Given the description of an element on the screen output the (x, y) to click on. 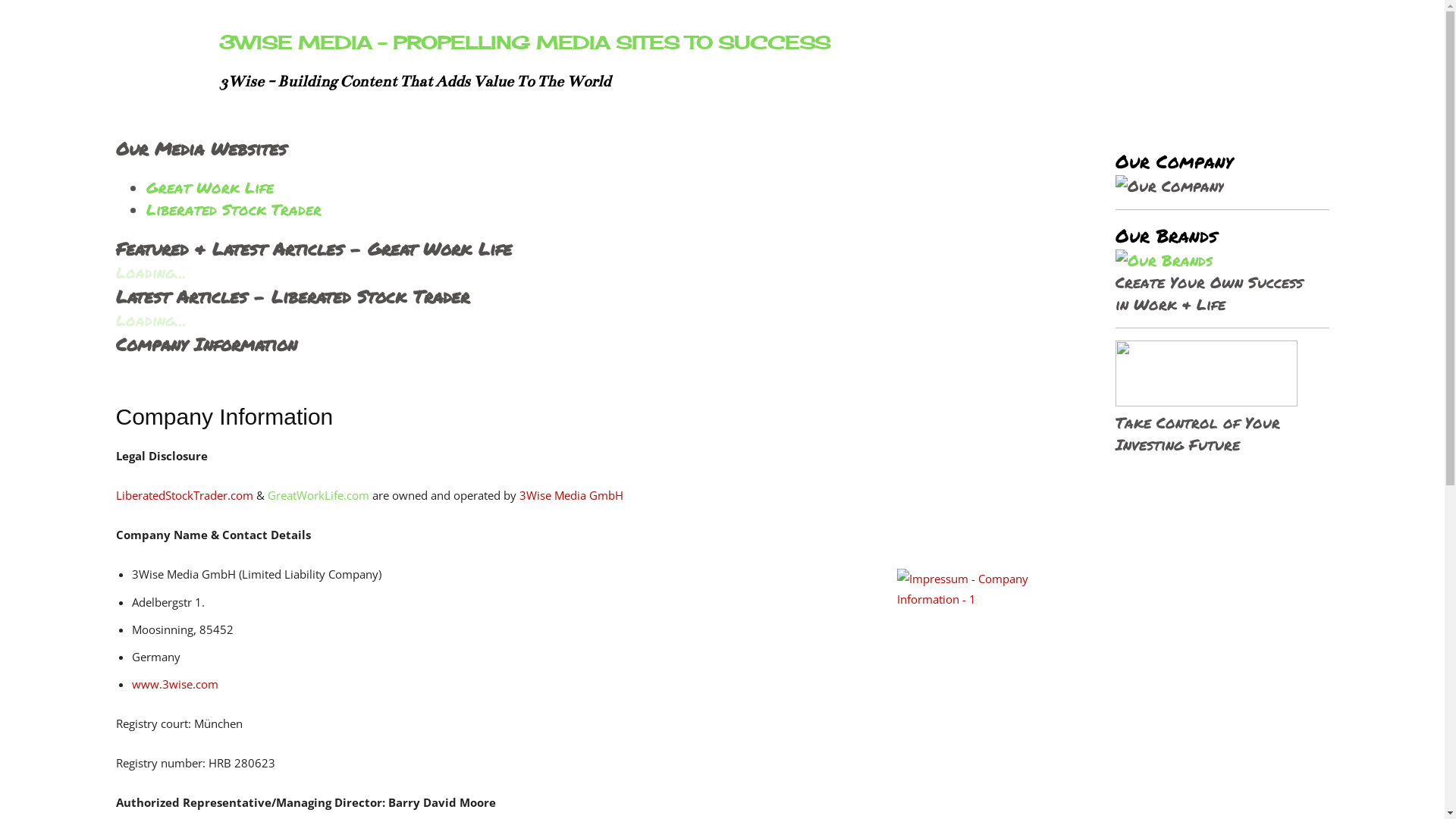
3Wise Media GmbH Element type: text (570, 494)
Loading... Element type: text (150, 271)
3WISE MEDIA - PROPELLING MEDIA SITES TO SUCCESS Element type: text (523, 42)
Great Work Life Element type: text (209, 186)
GreatWorkLife.com Element type: text (317, 494)
Loading... Element type: text (150, 319)
Liberated Stock Trader Element type: text (232, 208)
LiberatedStockTrader.com Element type: text (183, 494)
www.3wise.com Element type: text (174, 683)
Impressum - Company Information - 2 Element type: hover (990, 635)
